Given the description of an element on the screen output the (x, y) to click on. 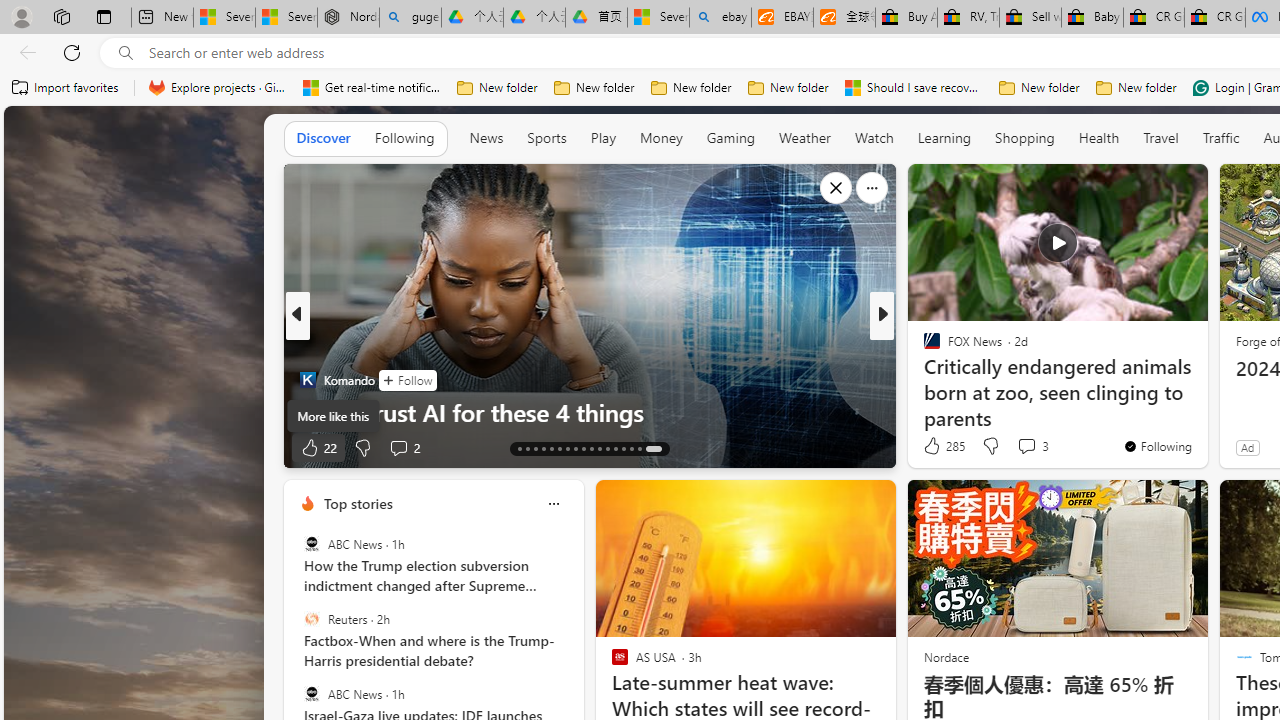
View comments 2 Comment (403, 447)
News (485, 138)
Watch (874, 137)
Learning (944, 138)
Class: icon-img (553, 503)
Sports (546, 137)
Should I save recovered Word documents? - Microsoft Support (913, 88)
guge yunpan - Search (410, 17)
Traffic (1220, 138)
AutomationID: tab-39 (623, 448)
Import favorites (65, 88)
ABC News (311, 693)
AutomationID: tab-15 (535, 448)
